Given the description of an element on the screen output the (x, y) to click on. 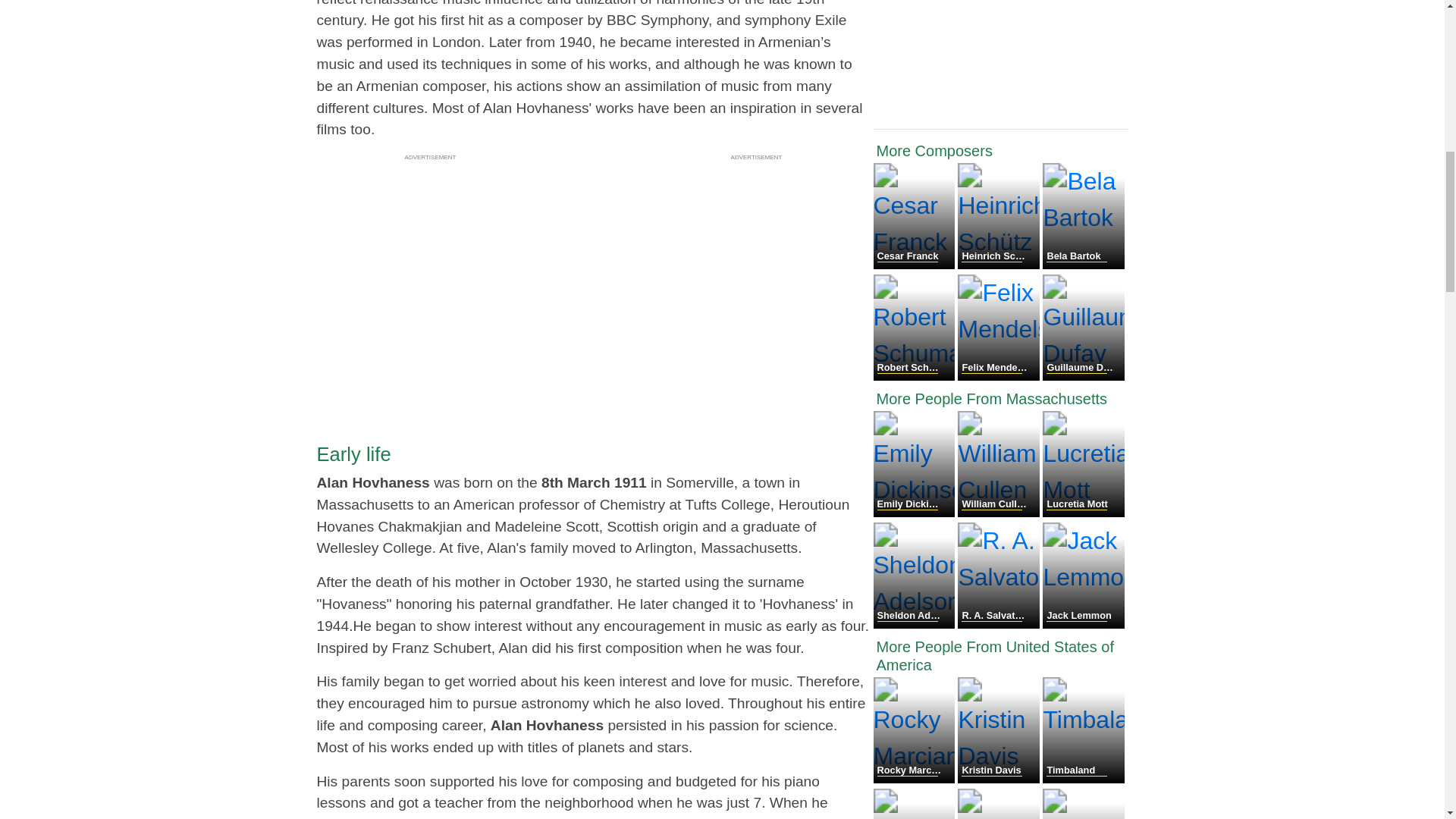
Jack Lemmon (1083, 624)
R. A. Salvatore (1000, 624)
Lucretia Mott (1083, 512)
More People From Massachusetts (1000, 398)
Bela Bartok (1083, 264)
Guillaume Dufay (1083, 376)
Cesar Franck (915, 264)
Kristin Davis (1000, 779)
William Cullen Bryant (1000, 512)
Rocky Marciano (915, 779)
More Composers (1000, 150)
More People From United States of America (1000, 656)
Sheldon Adelson (915, 624)
Felix Mendelssohn (1000, 376)
Emily Dickinson (915, 512)
